Given the description of an element on the screen output the (x, y) to click on. 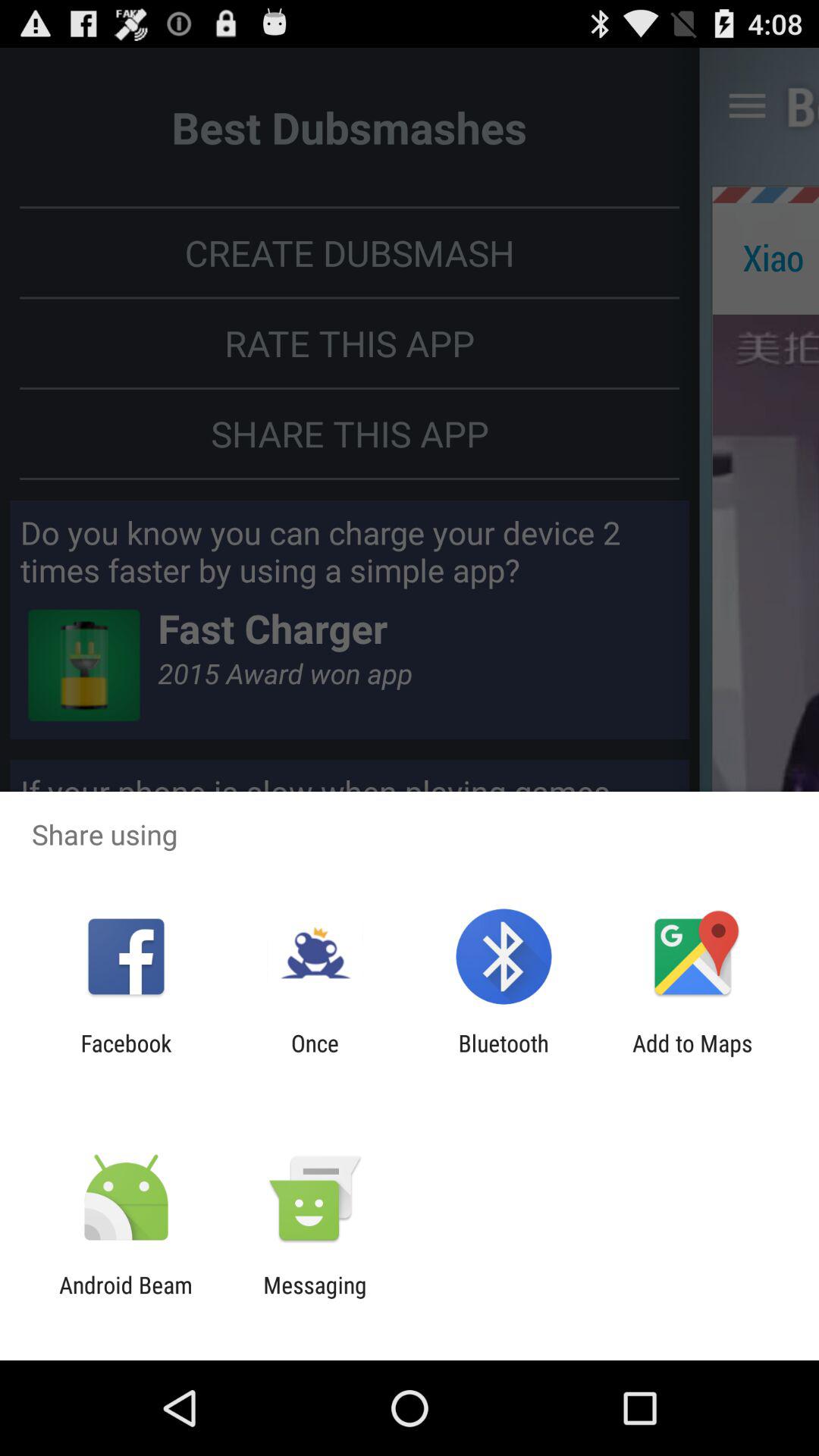
click icon at the bottom right corner (692, 1056)
